Given the description of an element on the screen output the (x, y) to click on. 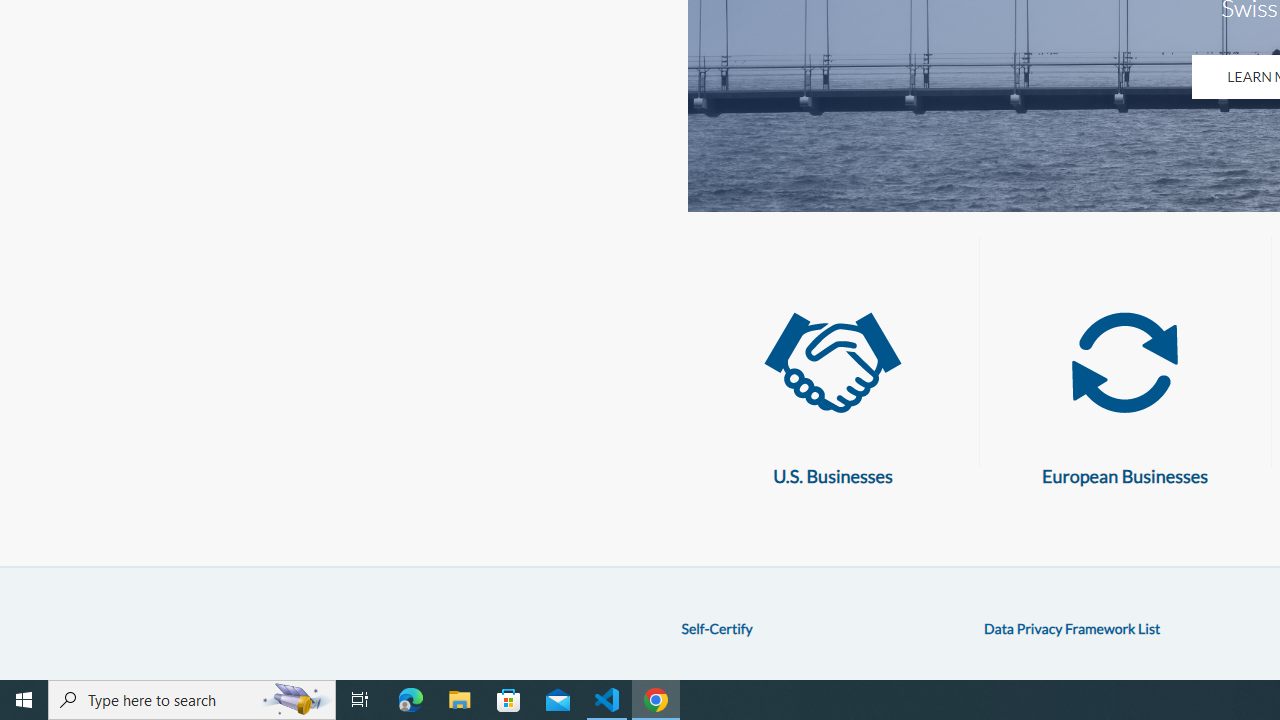
European Businesses (1124, 363)
European Businesses European Businesses (1124, 389)
U.S. Businesses (832, 363)
U.S. Businesses U.S. Businesses (832, 389)
Data Privacy Framework List (1072, 628)
Self-Certify (716, 628)
